Given the description of an element on the screen output the (x, y) to click on. 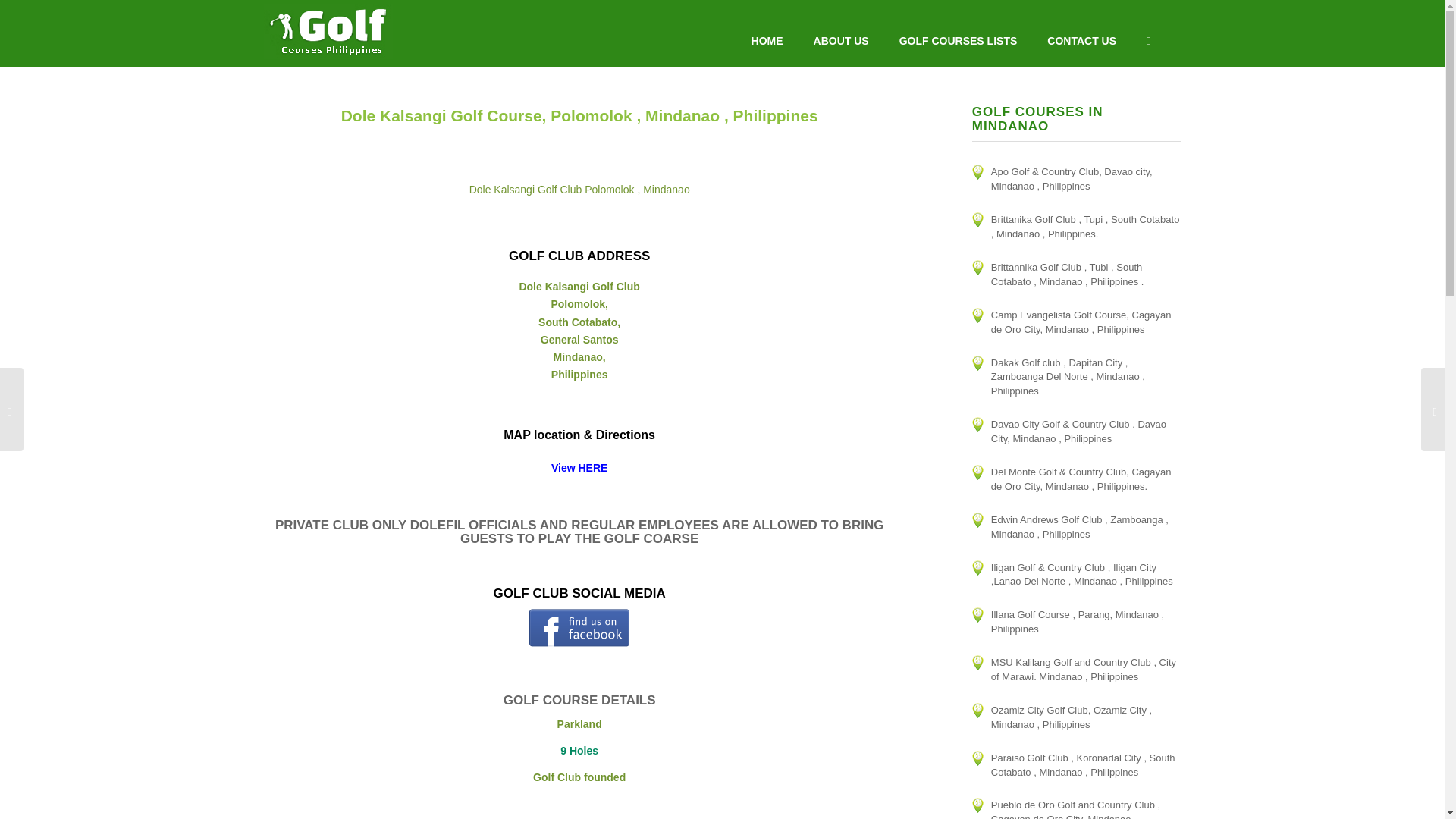
CONTACT US (1081, 40)
View HERE (579, 476)
find us on Facebook (578, 643)
ABOUT US (840, 40)
HOME (766, 40)
